Given the description of an element on the screen output the (x, y) to click on. 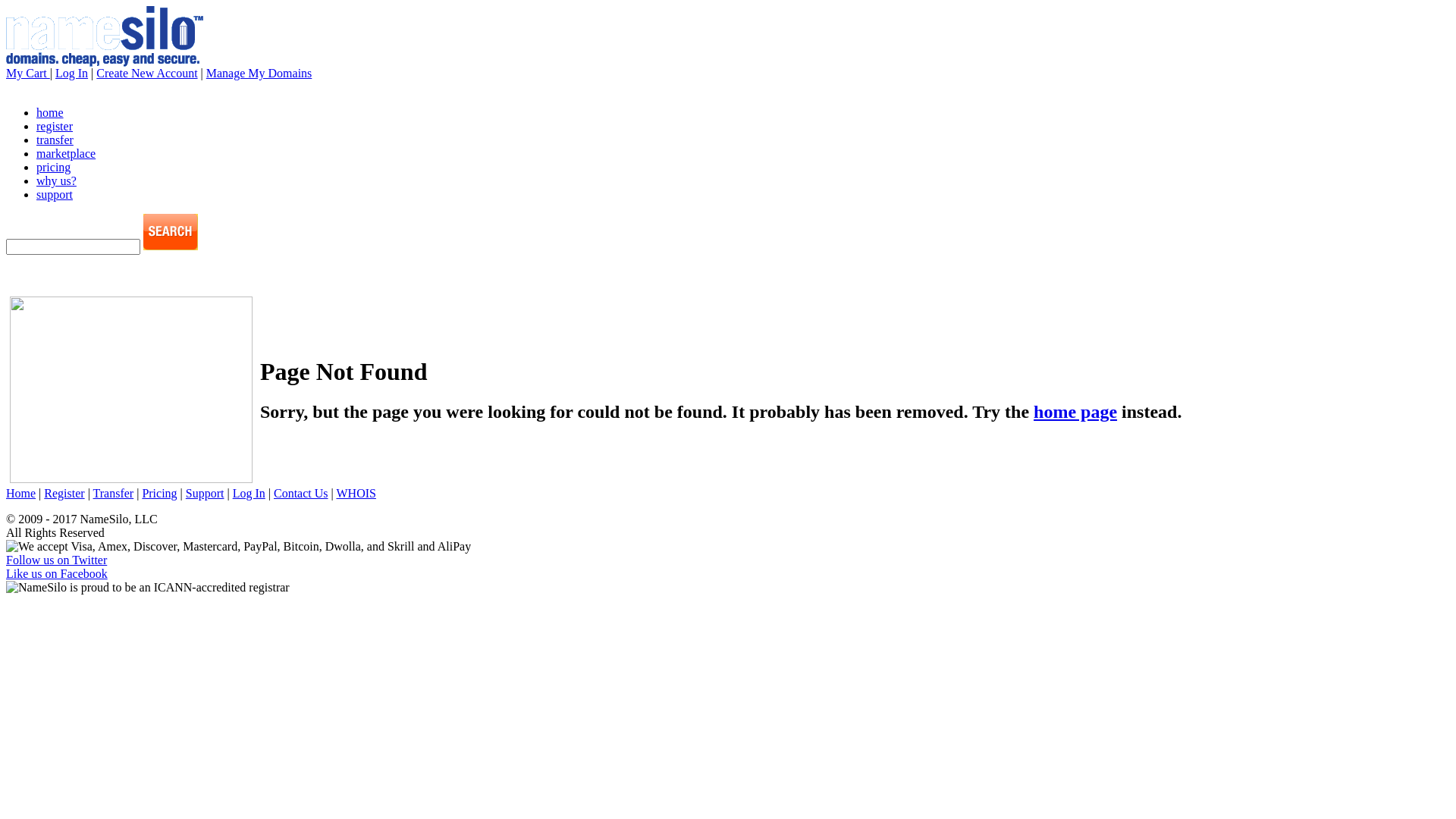
transfer Element type: text (54, 139)
why us? Element type: text (56, 180)
pricing Element type: text (53, 166)
Register Element type: text (63, 492)
Like us on Facebook Element type: text (56, 573)
Manage My Domains Element type: text (259, 72)
Contact Us Element type: text (300, 492)
support Element type: text (54, 194)
Transfer Element type: text (113, 492)
marketplace Element type: text (65, 153)
home Element type: text (49, 112)
NameSilo is proud to be an ICANN-accredited registrar Element type: hover (147, 587)
Log In Element type: text (71, 72)
My Cart Element type: text (28, 72)
Support Element type: text (204, 492)
WHOIS Element type: text (355, 492)
Follow us on Twitter Element type: text (56, 559)
Home Element type: text (20, 492)
home page Element type: text (1075, 411)
Log In Element type: text (248, 492)
Pricing Element type: text (158, 492)
register Element type: text (54, 125)
Create New Account Element type: text (146, 72)
